Given the description of an element on the screen output the (x, y) to click on. 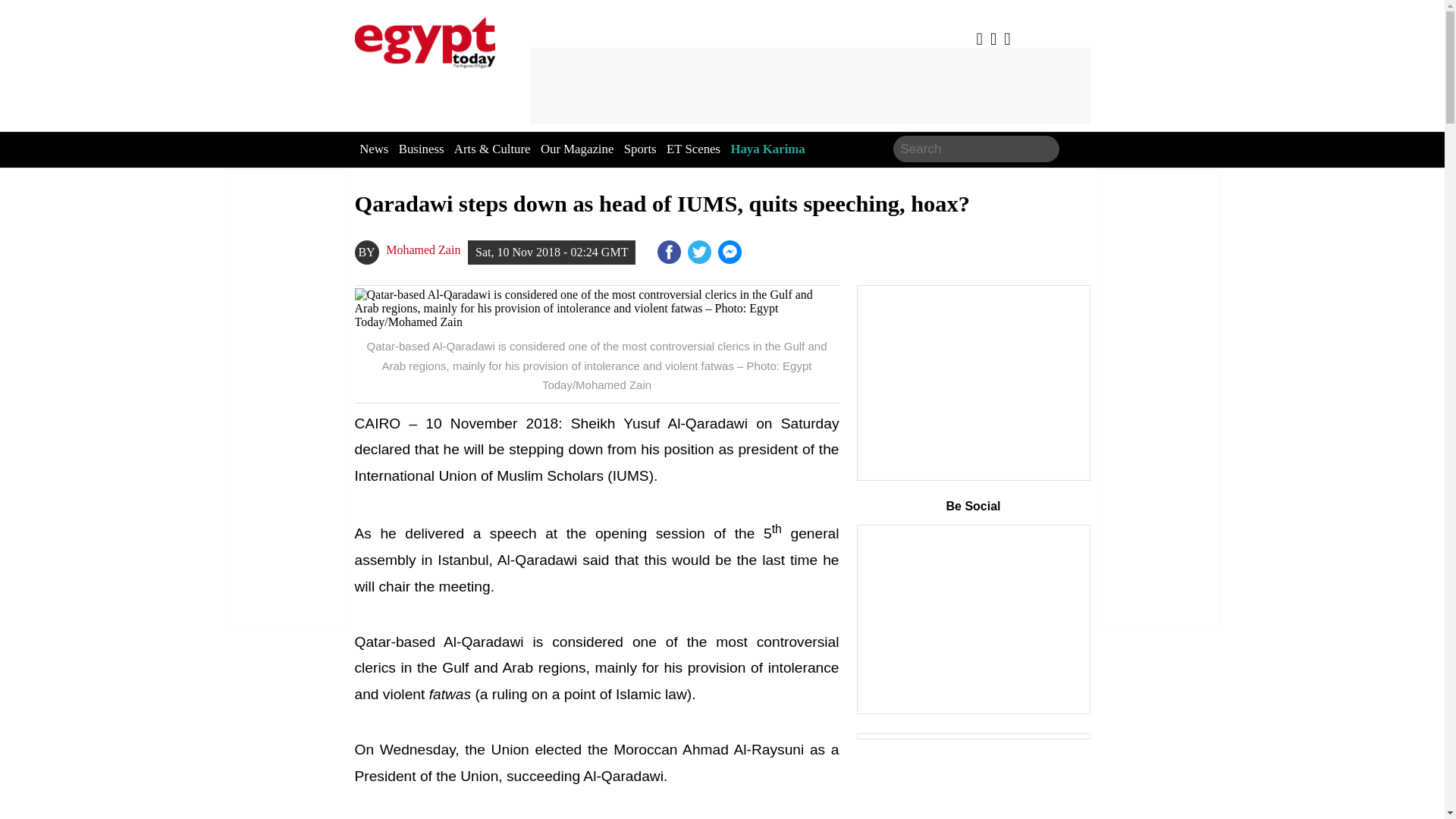
ET Scenes (693, 149)
Sisi heads to Guinea first destination in overseas tour (730, 251)
Mohamed Zain (422, 250)
Sports (640, 149)
Business (421, 149)
Haya Karima (767, 149)
Our Magazine (576, 149)
EgyptToday (425, 39)
